Given the description of an element on the screen output the (x, y) to click on. 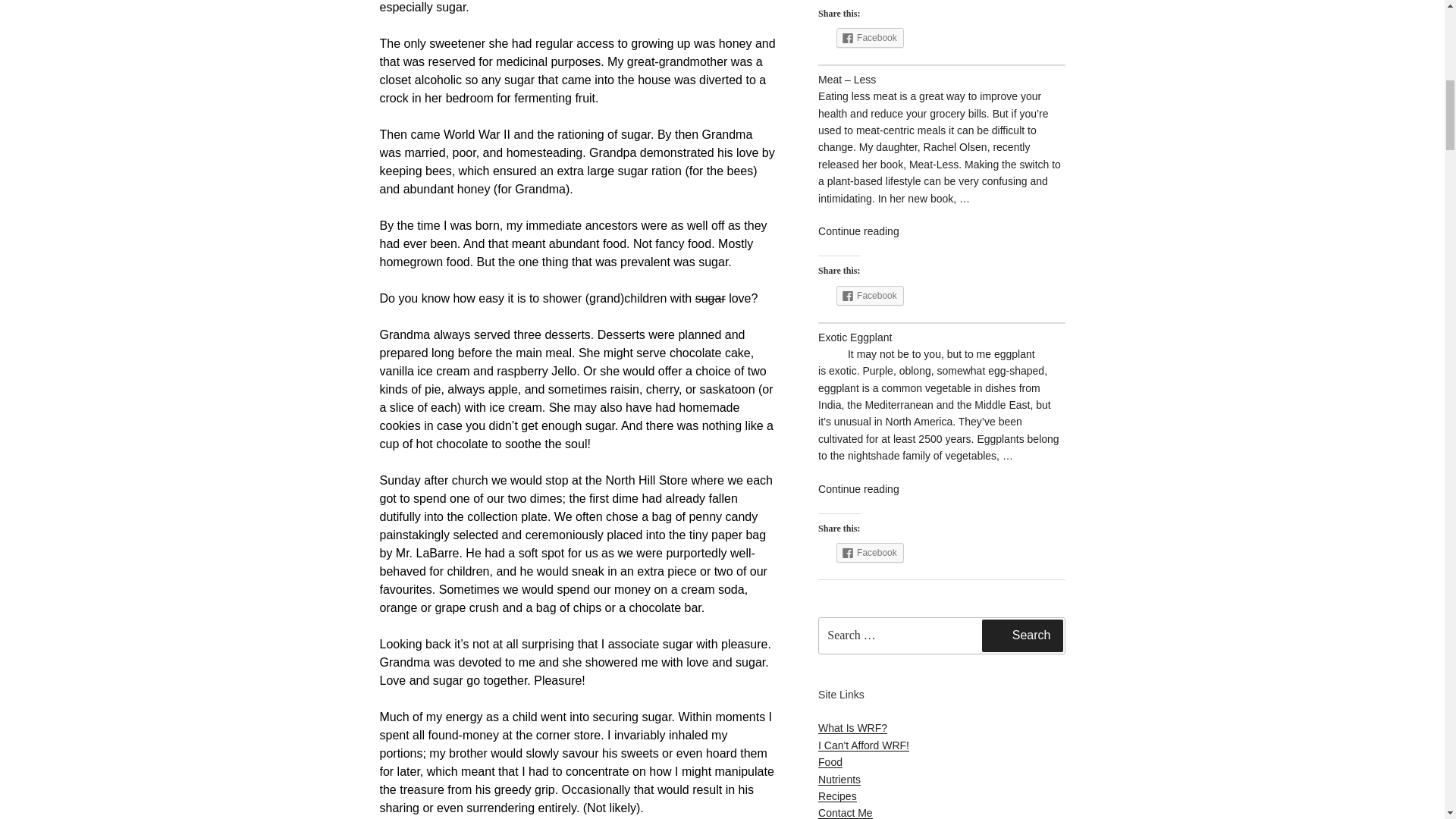
Click to share on Facebook (869, 295)
Facebook (869, 37)
Click to share on Facebook (869, 37)
Click to share on Facebook (869, 552)
